Given the description of an element on the screen output the (x, y) to click on. 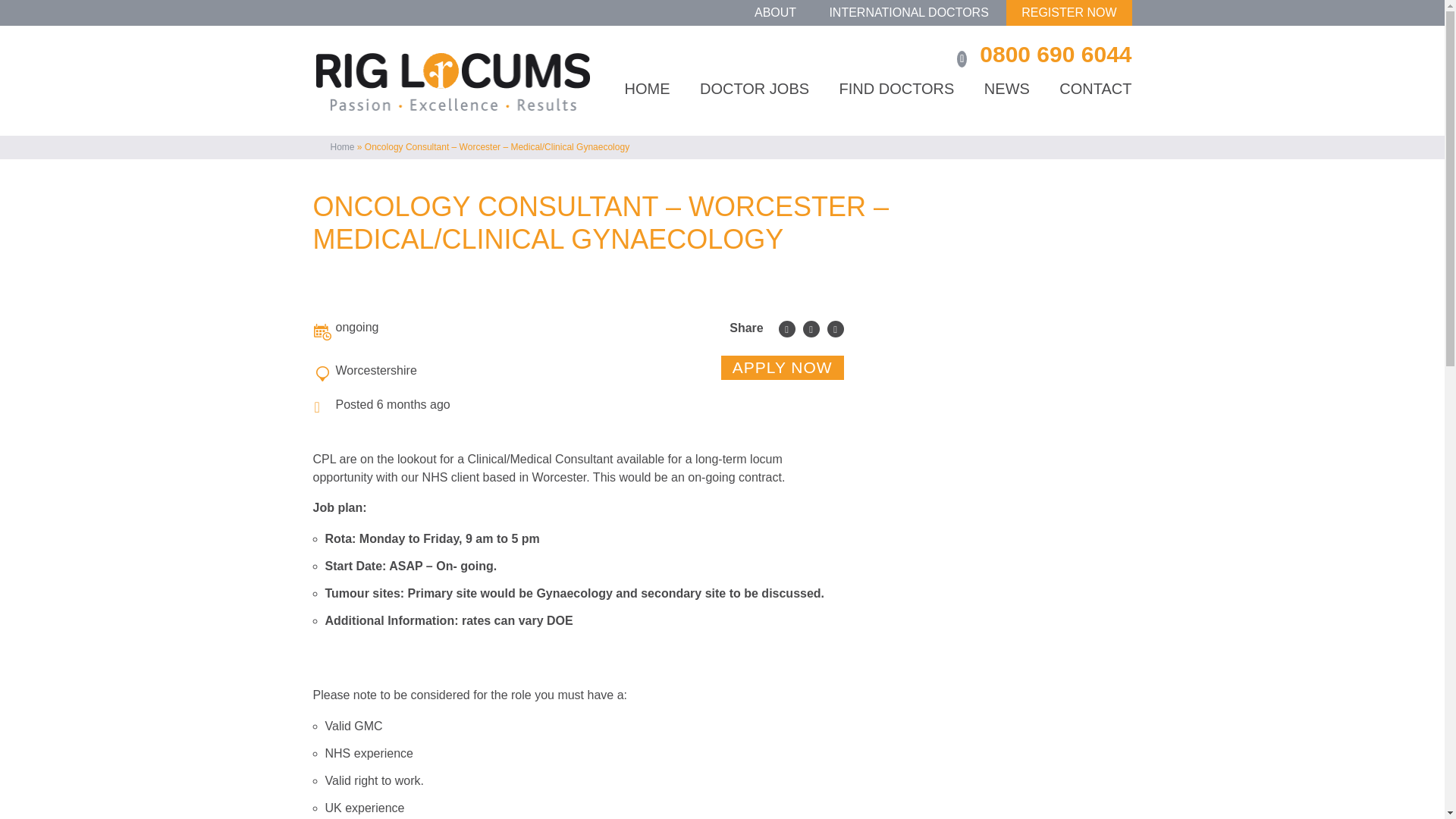
0800 690 6044 (1055, 54)
HOME (646, 104)
FIND DOCTORS (897, 104)
ABOUT (775, 12)
REGISTER NOW (1068, 12)
DOCTOR JOBS (754, 104)
INTERNATIONAL DOCTORS (908, 12)
Home (342, 146)
